Given the description of an element on the screen output the (x, y) to click on. 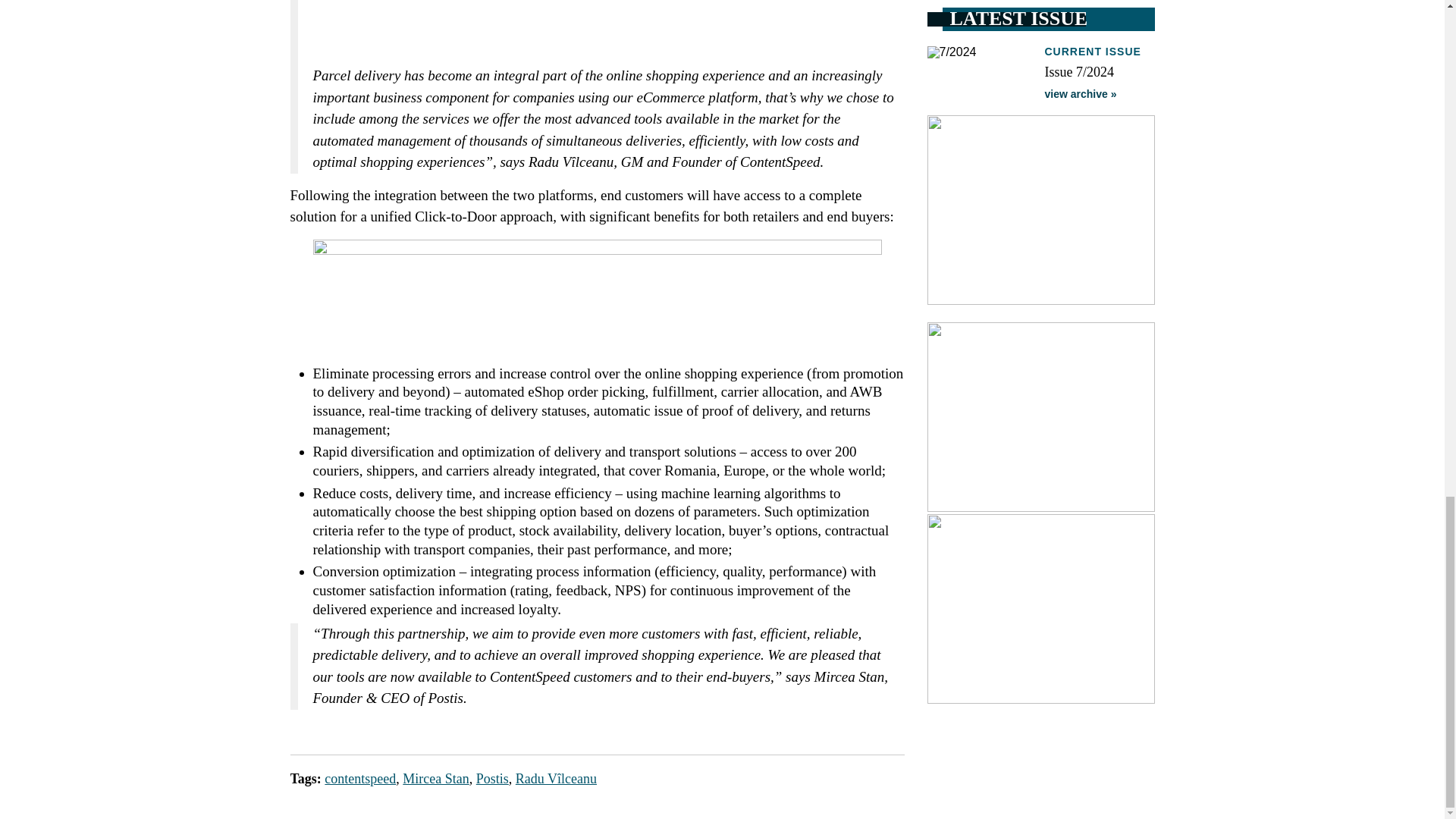
Postis (492, 778)
Mircea Stan (435, 778)
contentspeed (360, 778)
